Given the description of an element on the screen output the (x, y) to click on. 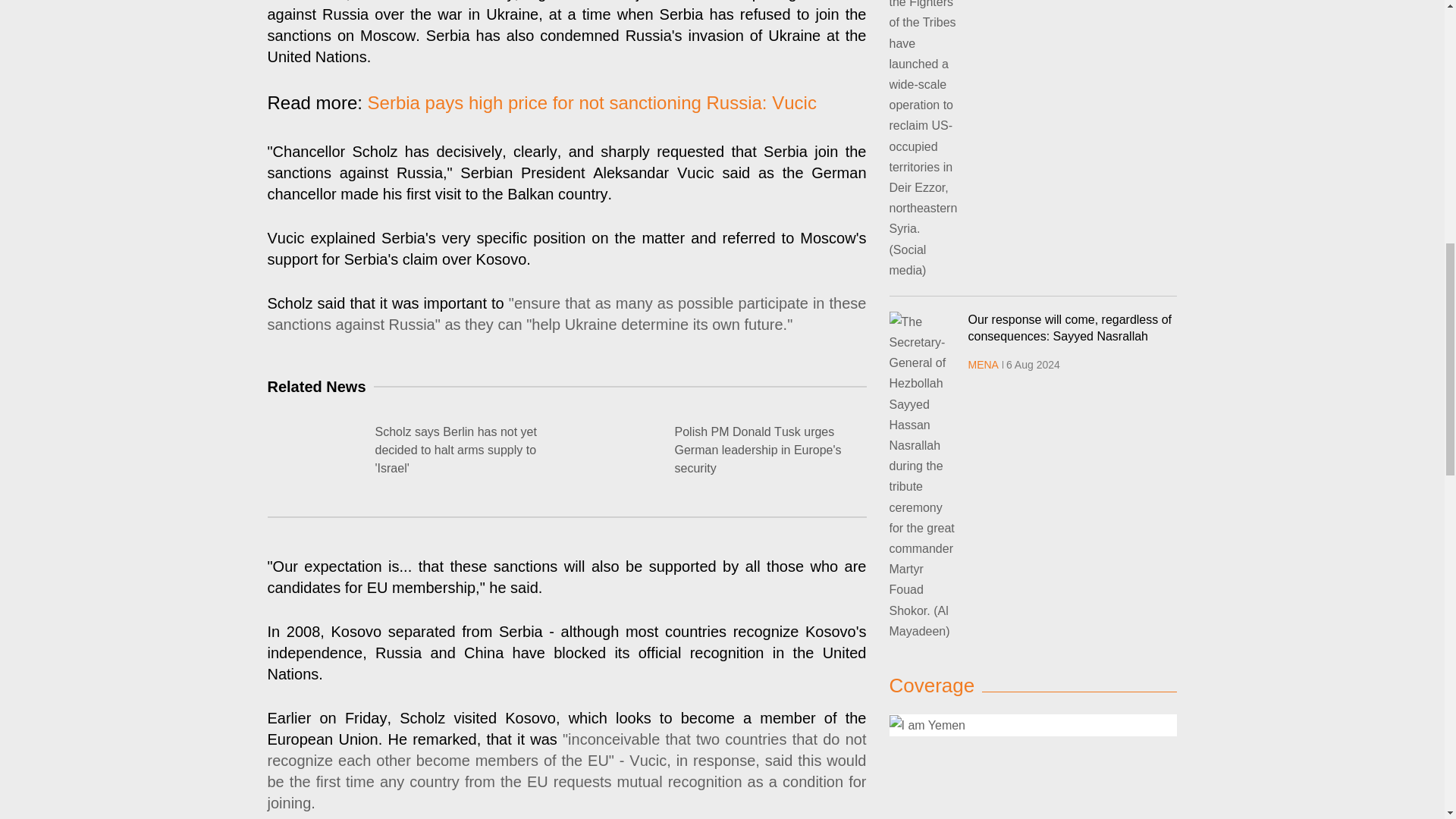
I am Yemen (926, 724)
I am Yemen (1032, 724)
MENA (982, 364)
